Given the description of an element on the screen output the (x, y) to click on. 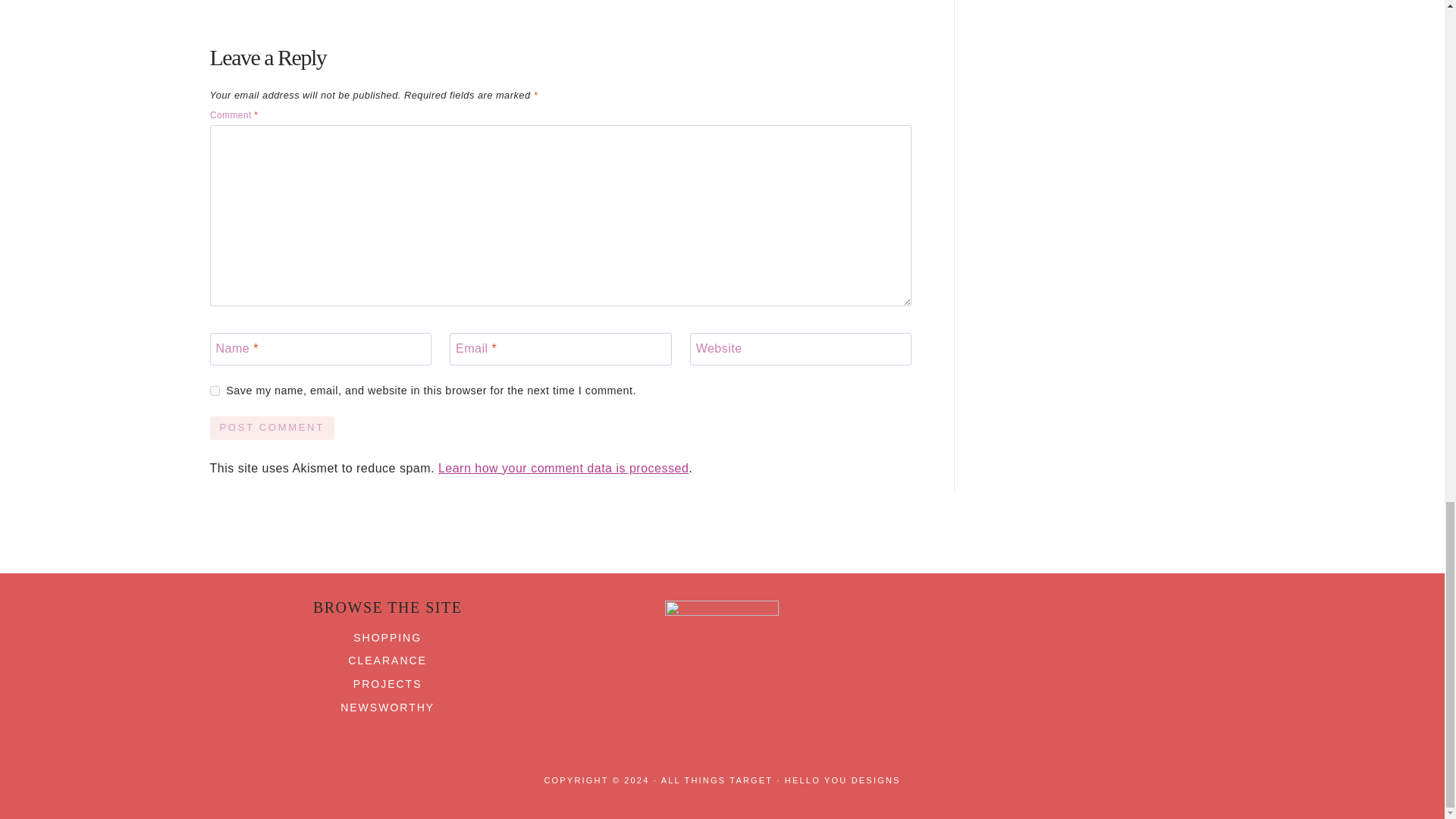
yes (214, 390)
Post Comment (271, 427)
